Given the description of an element on the screen output the (x, y) to click on. 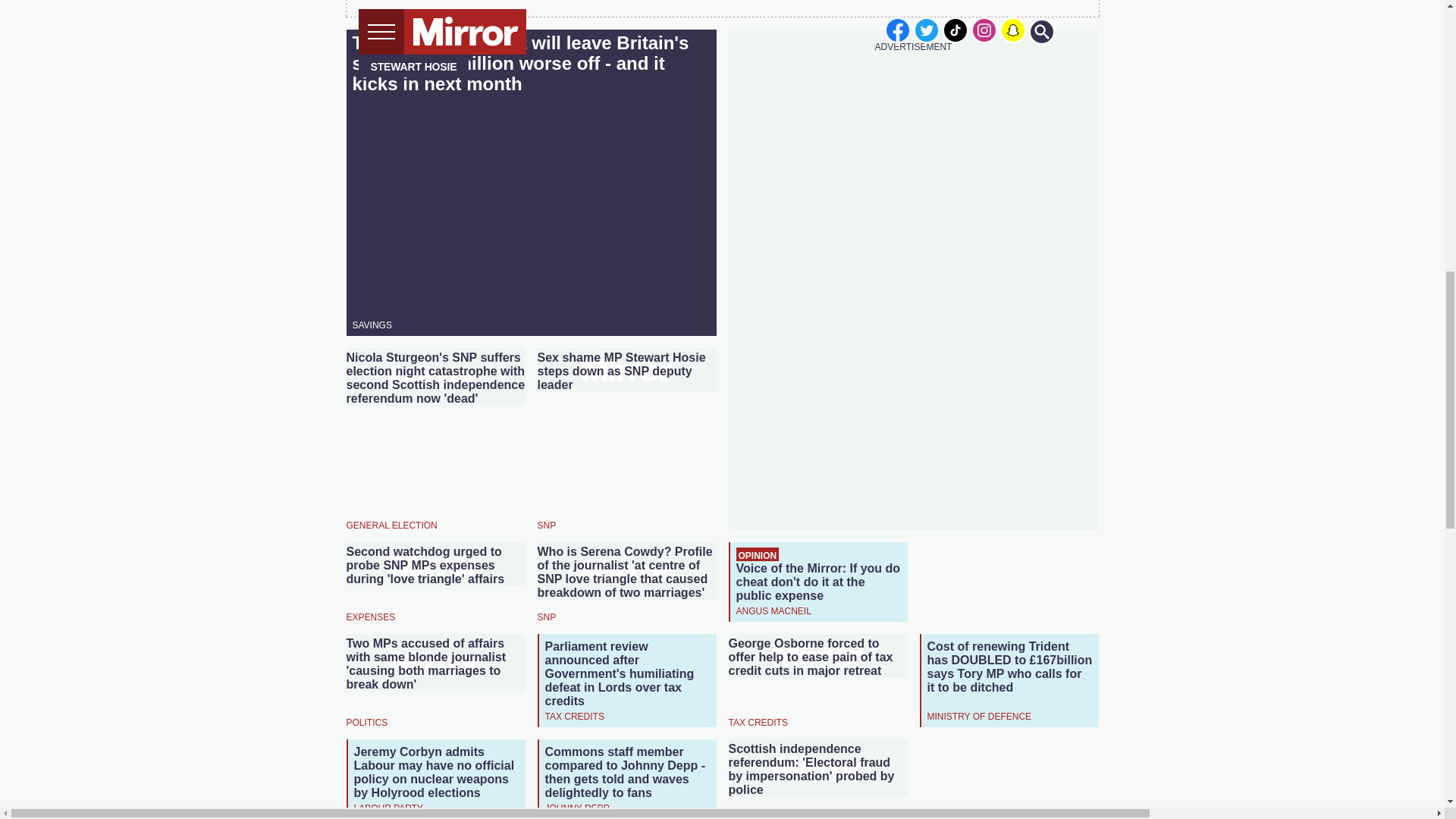
SAVINGS (371, 325)
